Given the description of an element on the screen output the (x, y) to click on. 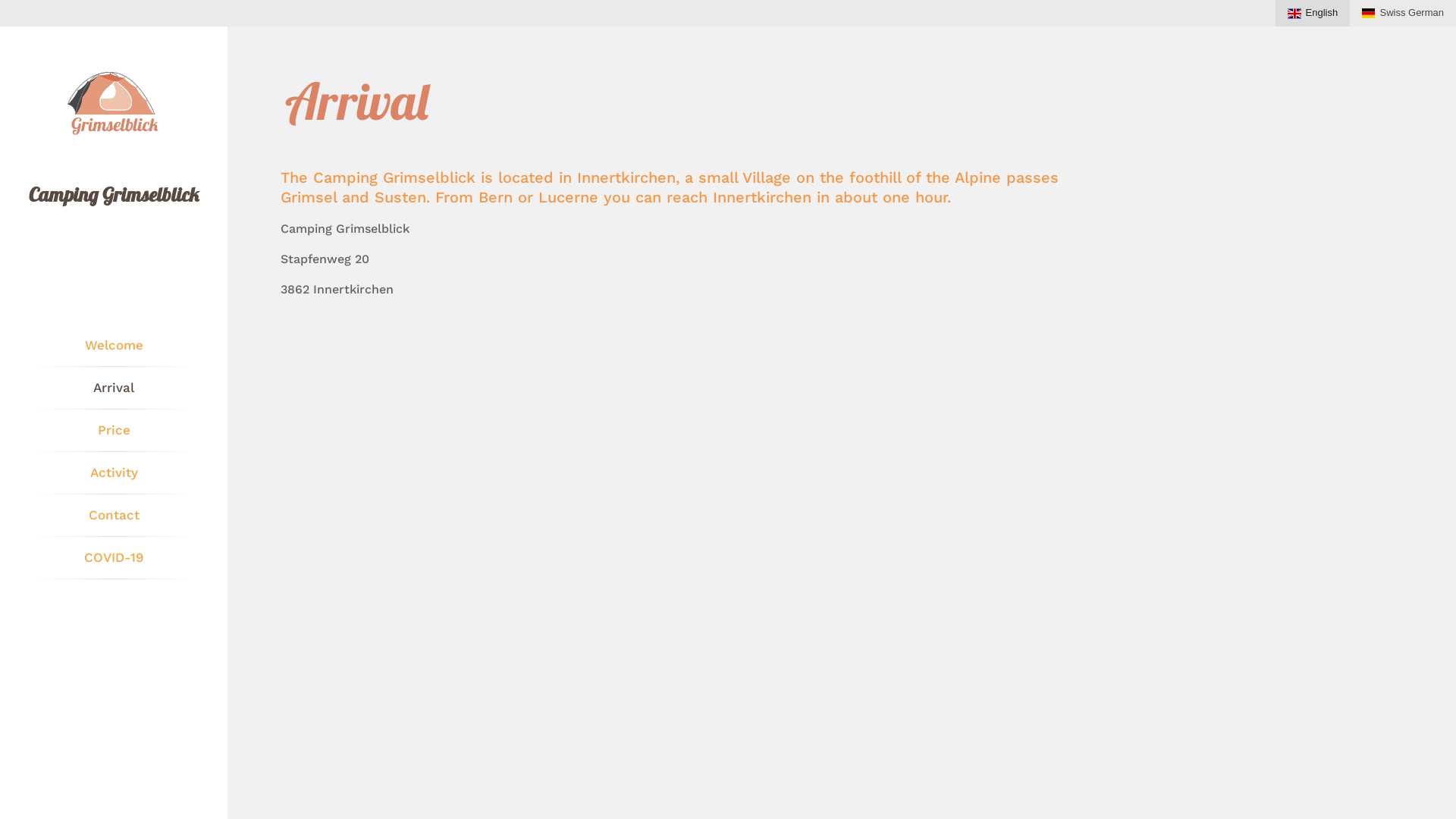
Camping Grimselblick Element type: text (113, 194)
Arrival Element type: text (113, 387)
Contact Element type: text (113, 515)
English Element type: text (1312, 13)
COVID-19 Element type: text (113, 557)
Activity Element type: text (113, 472)
logo Element type: hover (113, 104)
Welcome Element type: text (113, 345)
Price Element type: text (113, 430)
